Given the description of an element on the screen output the (x, y) to click on. 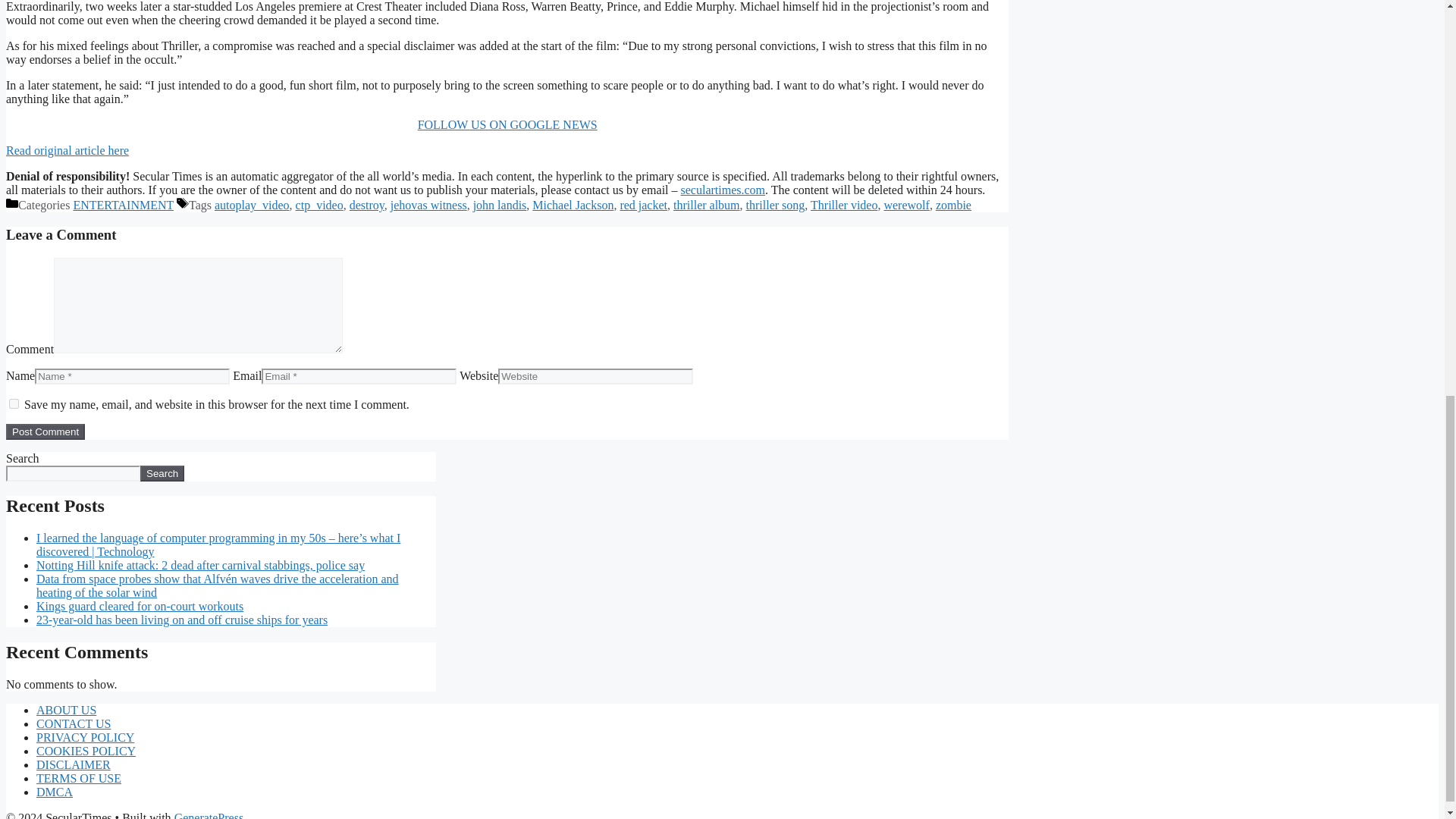
seculartimes.com (723, 189)
john landis (500, 205)
Michael Jackson (572, 205)
Search (161, 473)
werewolf (905, 205)
Read original article here (67, 150)
Thriller video (843, 205)
ENTERTAINMENT (122, 205)
Post Comment (44, 431)
red jacket (643, 205)
